Given the description of an element on the screen output the (x, y) to click on. 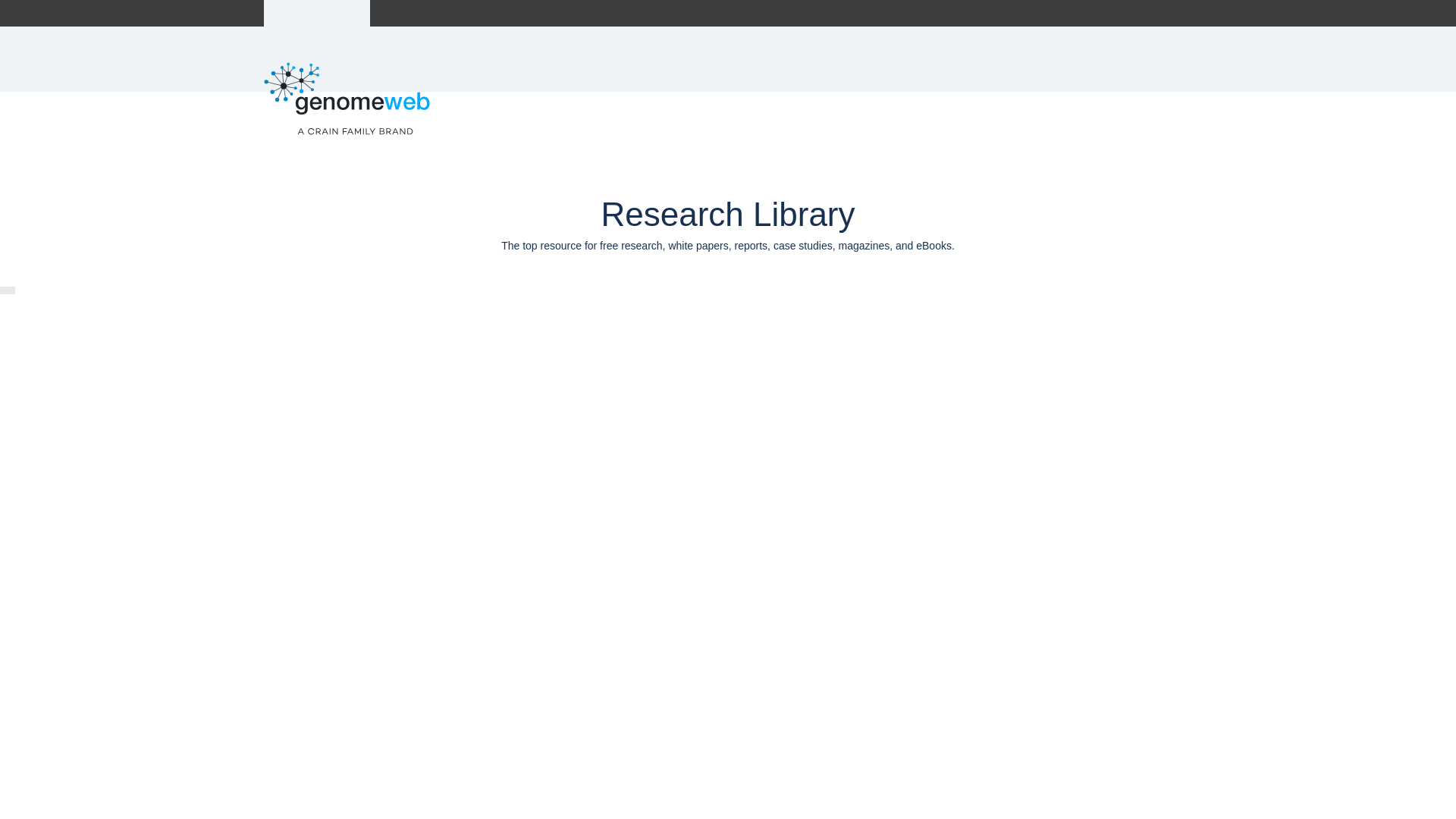
GenomeWeb (316, 13)
Precision Oncology News (505, 13)
360Dx (410, 13)
